Given the description of an element on the screen output the (x, y) to click on. 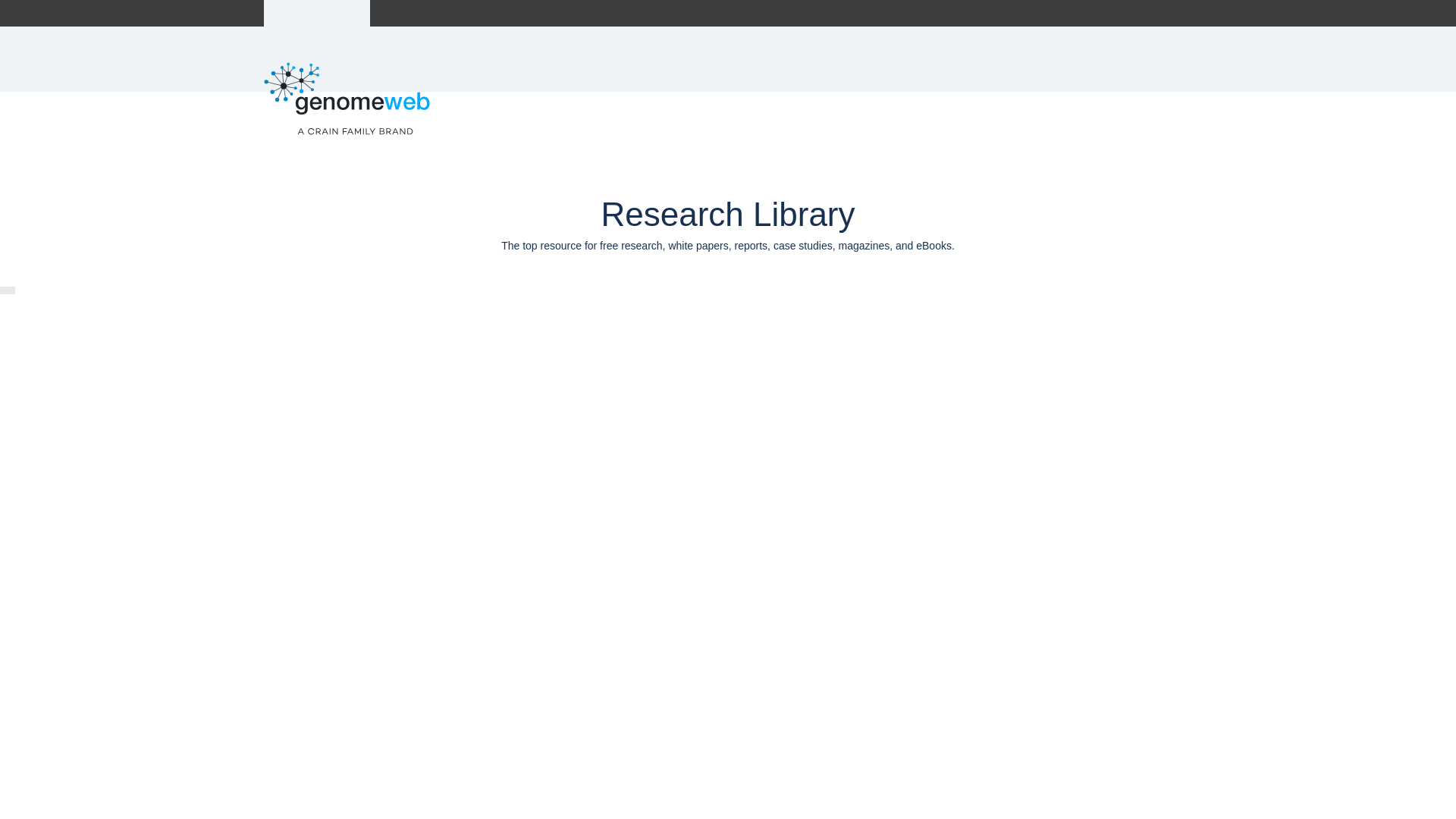
GenomeWeb (316, 13)
Precision Oncology News (505, 13)
360Dx (410, 13)
